Given the description of an element on the screen output the (x, y) to click on. 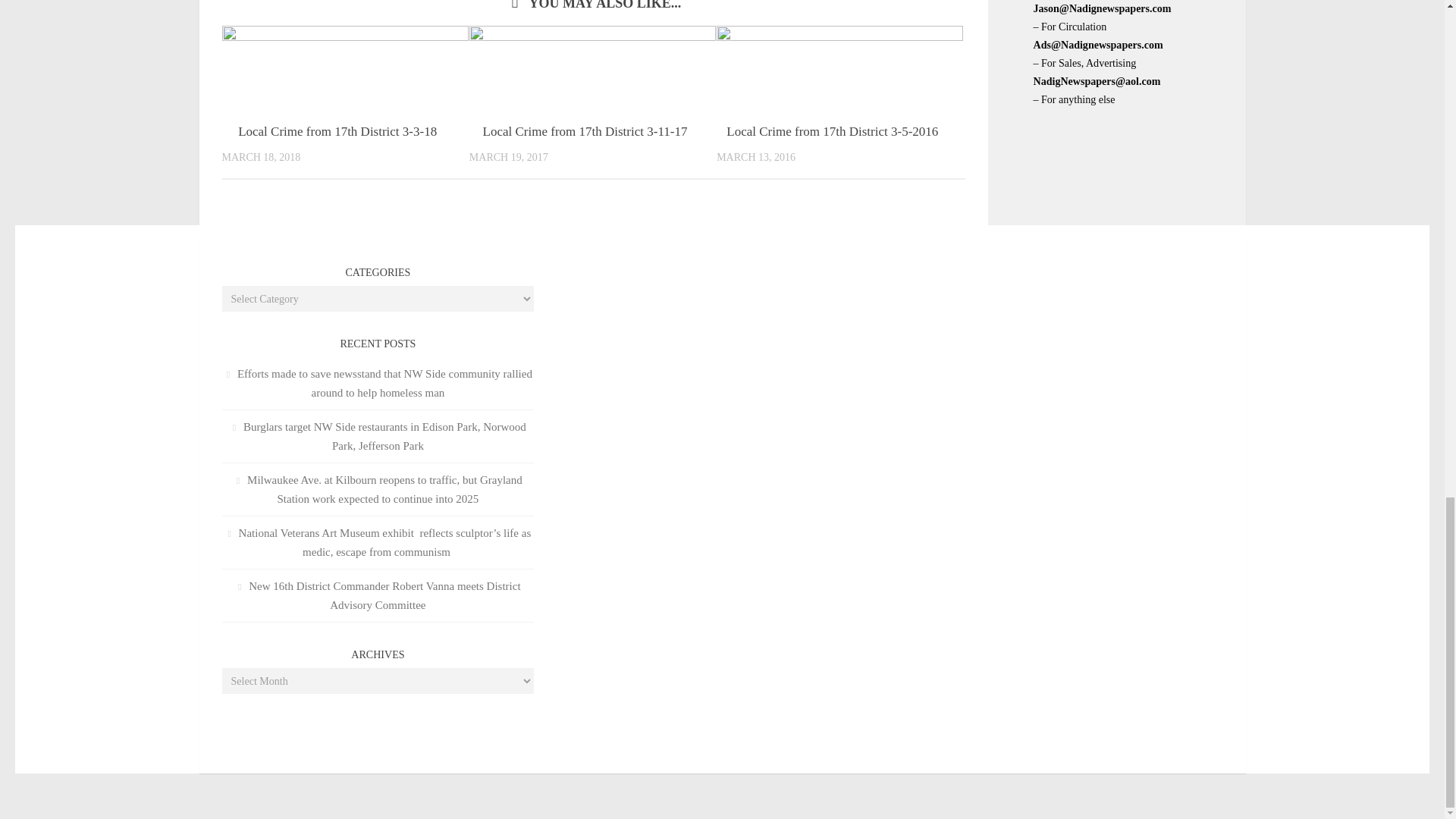
Local Crime from 17th District 3-3-18 (337, 131)
Local Crime from 17th District 3-5-2016 (831, 131)
Local Crime from 17th District 3-11-17 (585, 131)
